Given the description of an element on the screen output the (x, y) to click on. 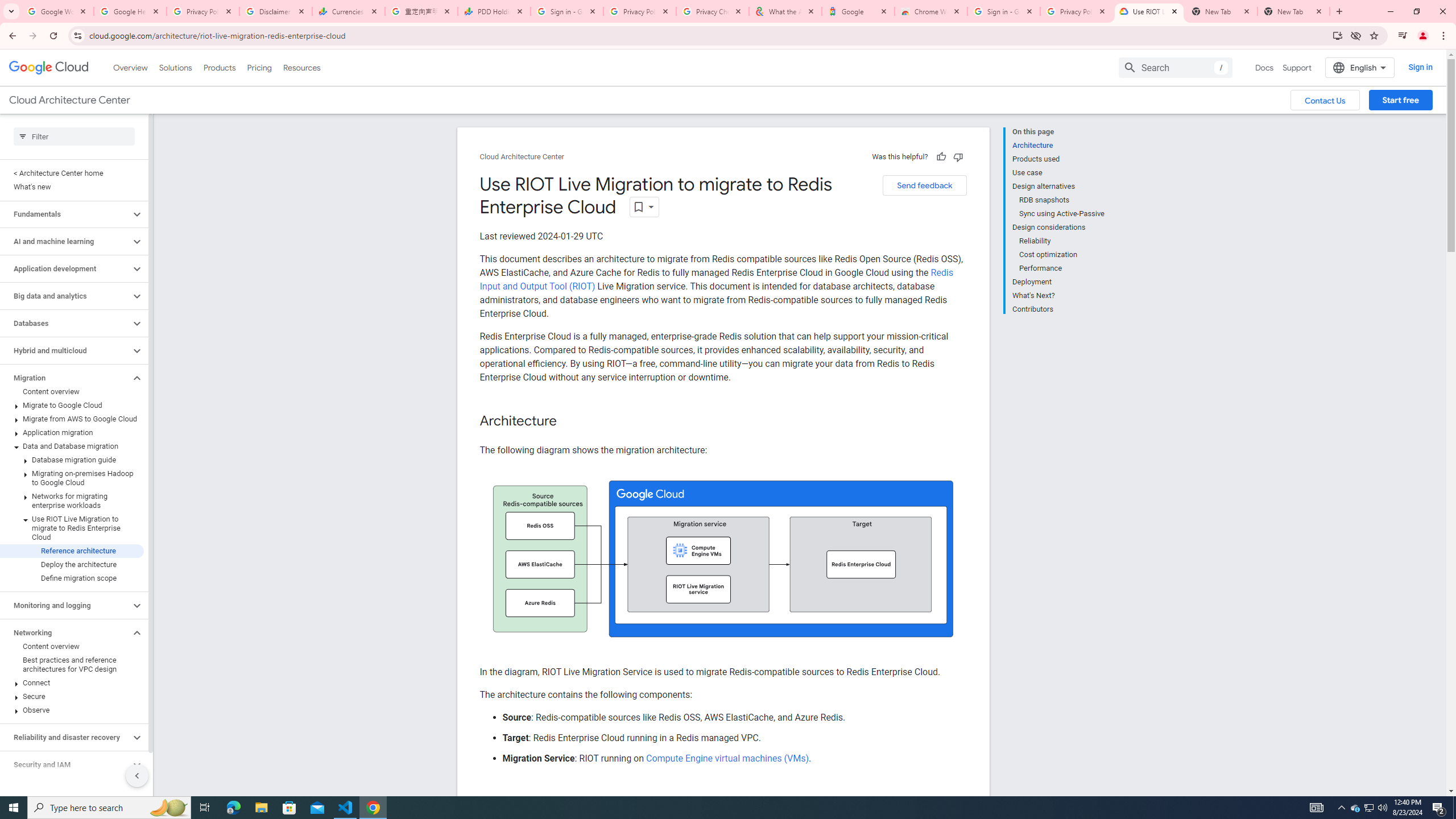
Helpful (940, 156)
Install Google Cloud (1336, 35)
English (1359, 67)
Best practices and reference architectures for VPC design (72, 664)
Reliability (1062, 241)
Cloud Architecture Center (521, 156)
Reference architecture (72, 550)
